Given the description of an element on the screen output the (x, y) to click on. 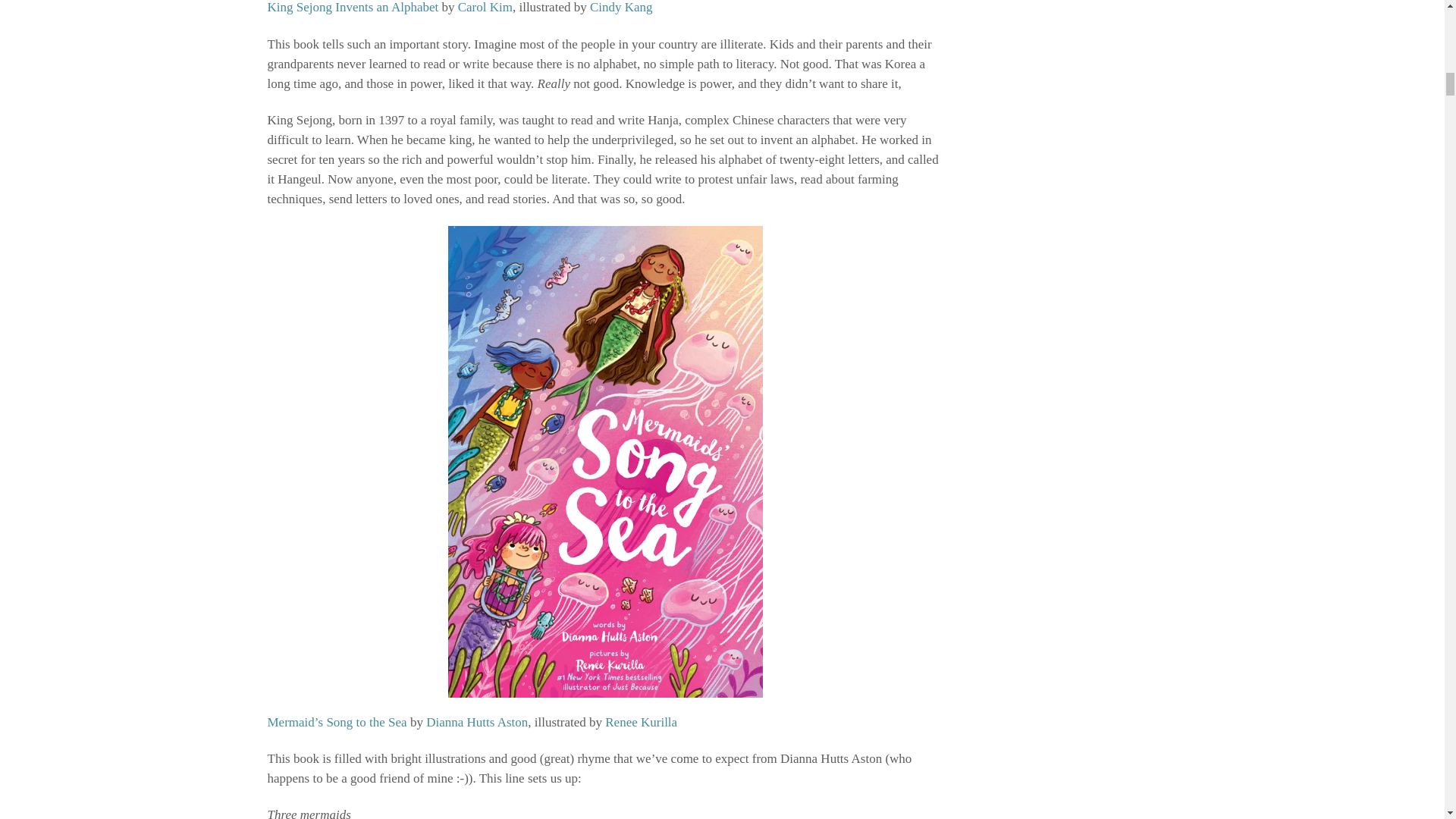
Renee Kurilla (641, 721)
Carol Kim (485, 7)
Cindy Kang (620, 7)
Dianna Hutts Aston (476, 721)
King Sejong Invents an Alphabet (352, 7)
